Given the description of an element on the screen output the (x, y) to click on. 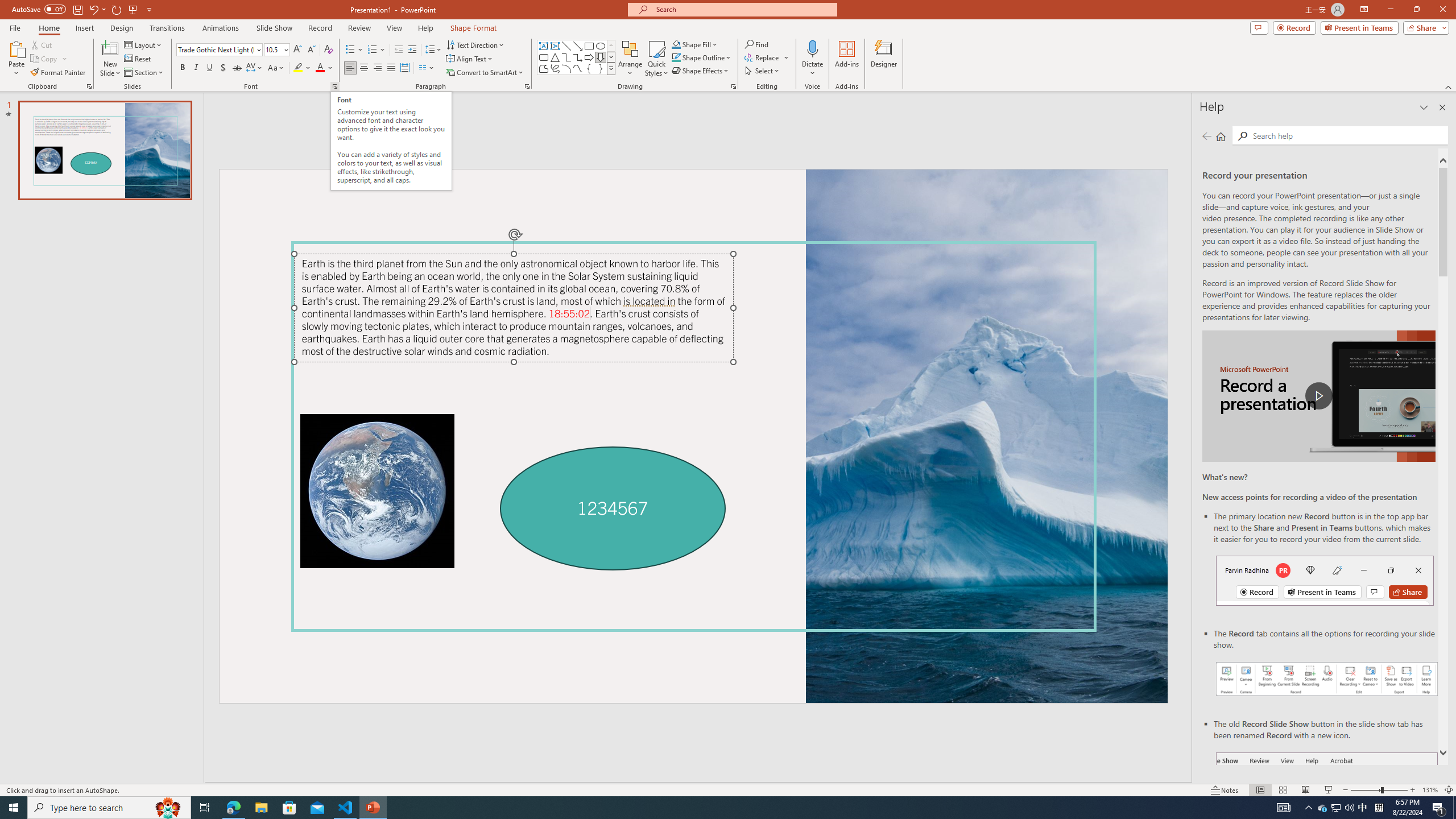
Replace... (767, 56)
Curve (577, 68)
Search (1347, 135)
Record button in top bar (1324, 580)
Justify (390, 67)
Paragraph... (526, 85)
Quick Styles (656, 58)
Class: MsoCommandBar (728, 789)
Arc (566, 68)
Row Down (611, 56)
Copy (45, 58)
Numbering (376, 49)
